Given the description of an element on the screen output the (x, y) to click on. 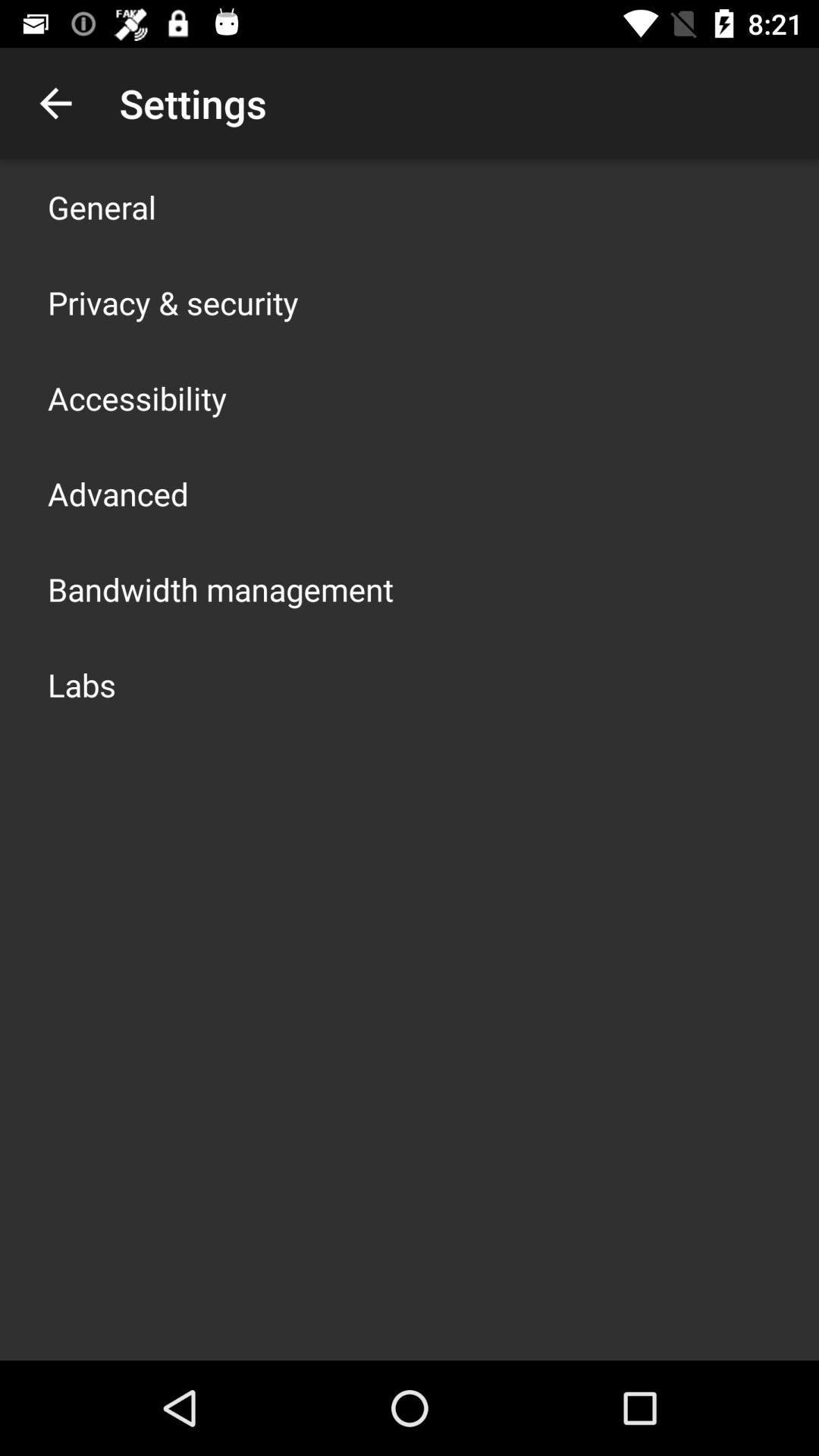
select the app above bandwidth management (117, 493)
